Given the description of an element on the screen output the (x, y) to click on. 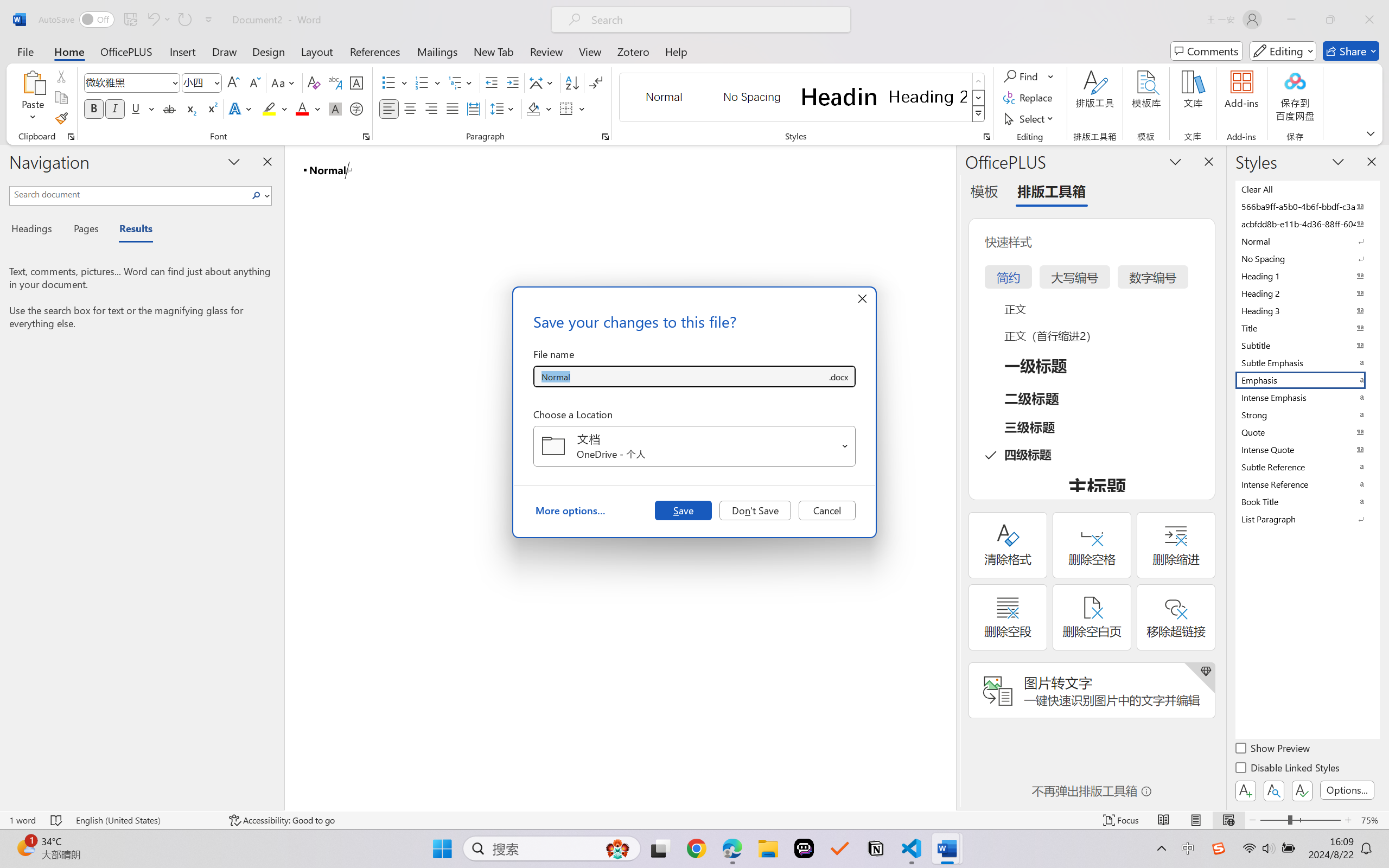
Ribbon Display Options (1370, 132)
Zotero (632, 51)
Select (1030, 118)
List Paragraph (1306, 518)
Cut (60, 75)
Home (69, 51)
Clear Formatting (313, 82)
Grow Font (233, 82)
Italic (115, 108)
